Given the description of an element on the screen output the (x, y) to click on. 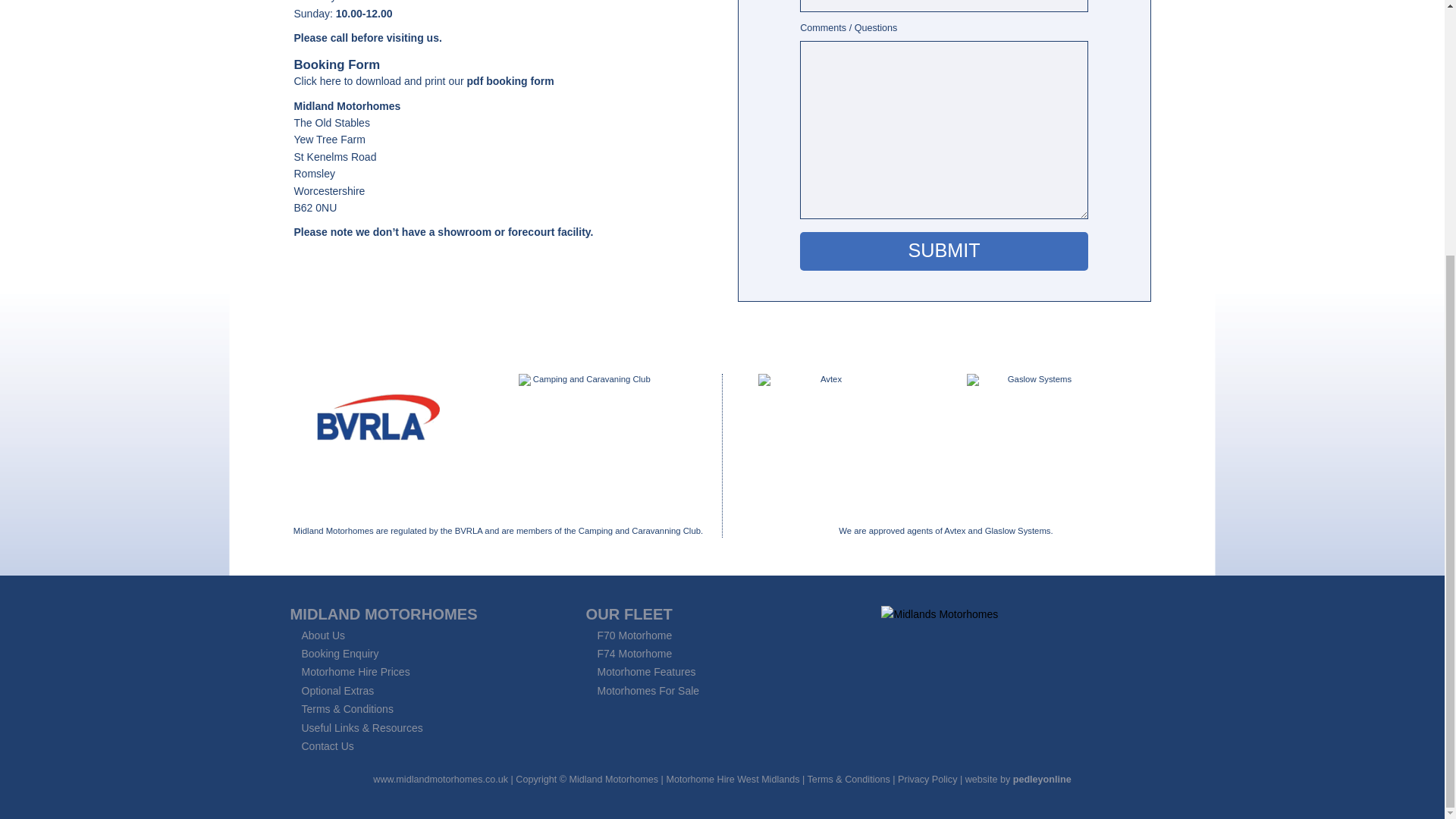
pdf booking form (510, 80)
About Us (323, 635)
Contact Us (327, 746)
MIDLAND MOTORHOMES (383, 614)
Optional Extras (337, 690)
Motorhome Features (645, 671)
OUR FLEET (628, 614)
Submit (943, 251)
Booking Enquiry (339, 653)
F70 Motorhome (633, 635)
F74 Motorhome (633, 653)
Submit (943, 251)
Motorhome Hire Prices (355, 671)
